Given the description of an element on the screen output the (x, y) to click on. 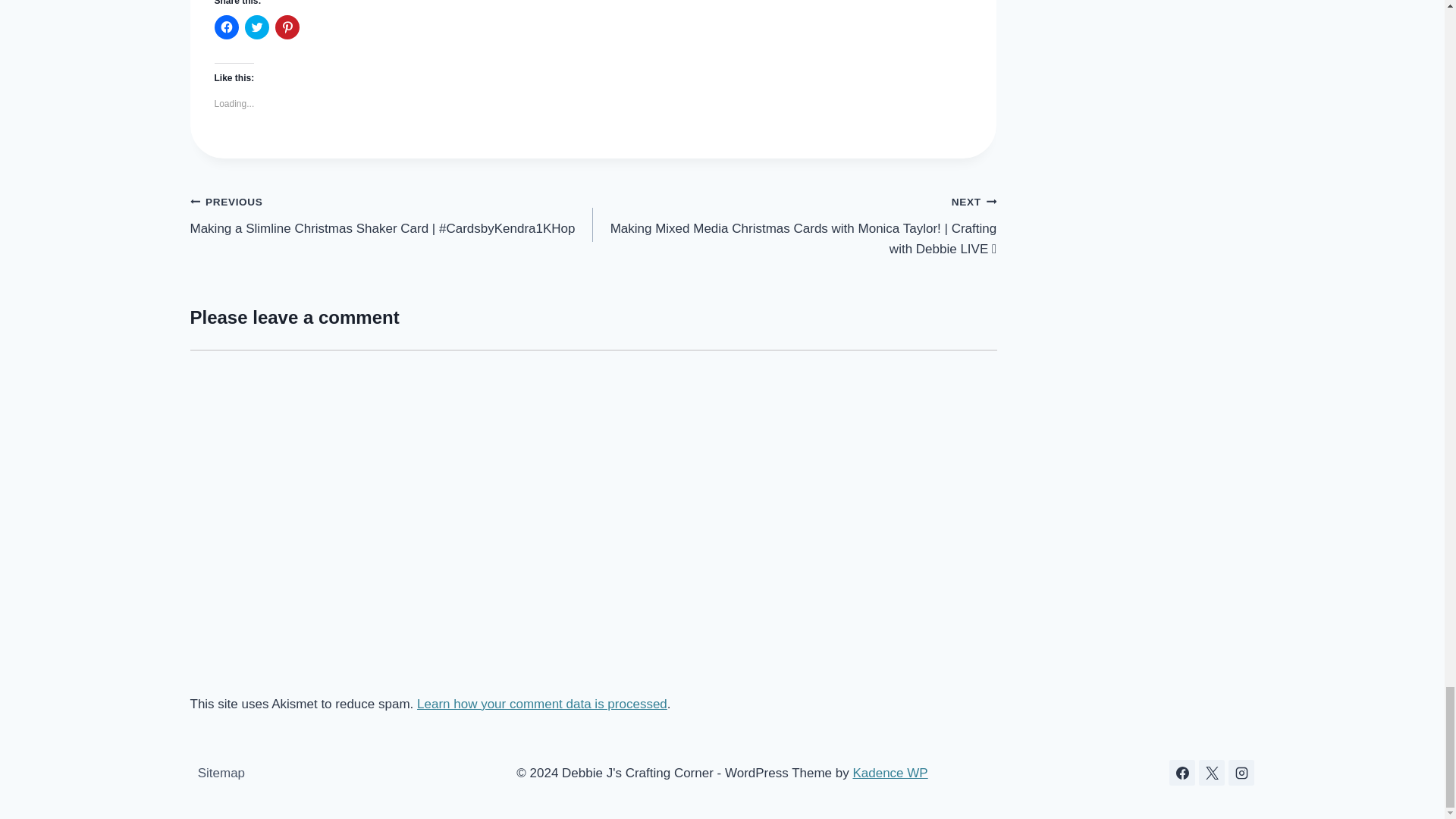
Click to share on Twitter (255, 27)
Click to share on Facebook (226, 27)
Click to share on Pinterest (286, 27)
